Given the description of an element on the screen output the (x, y) to click on. 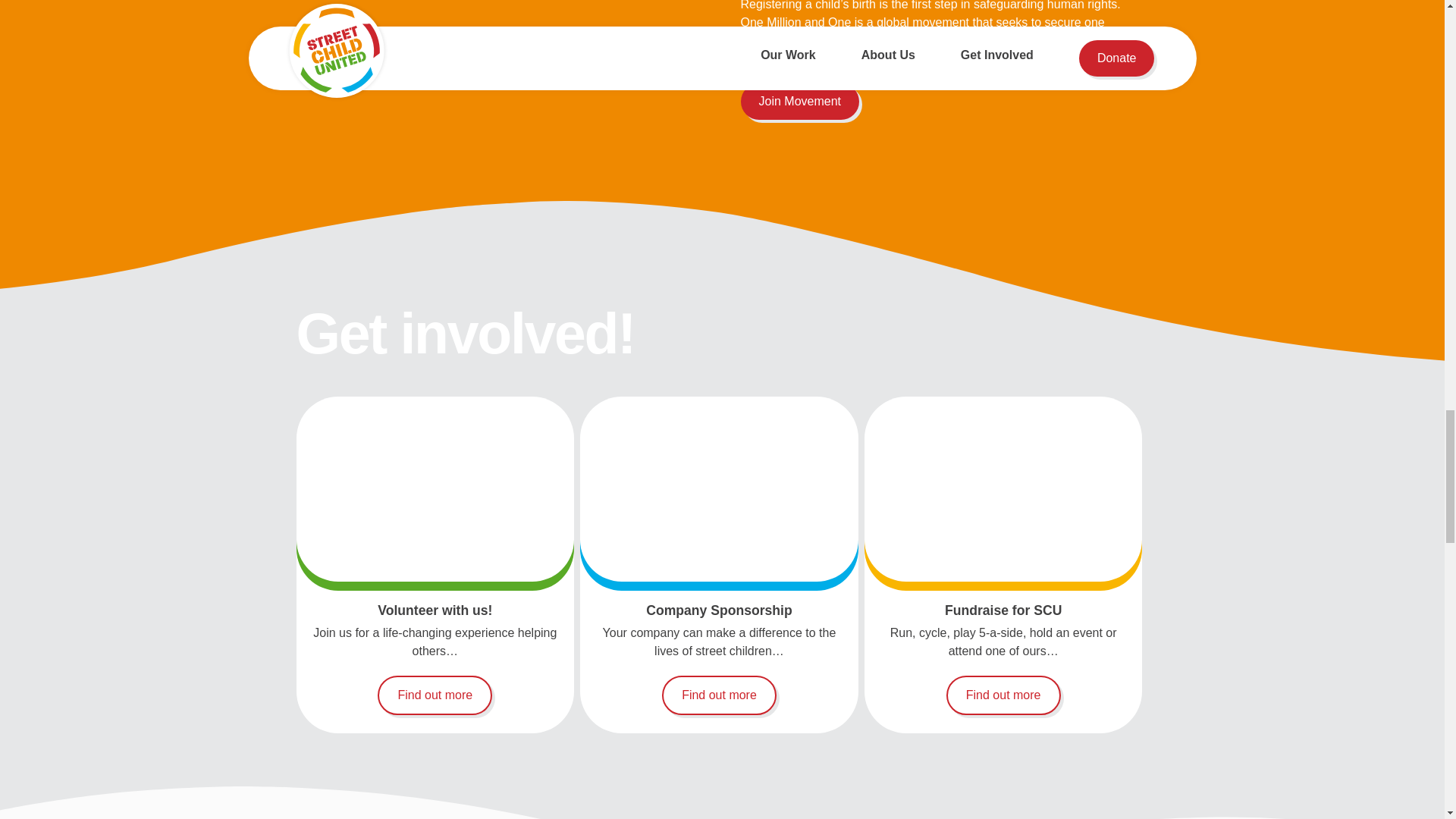
Join Movement (799, 101)
Find out more (434, 694)
Find out more (1003, 694)
Find out more (719, 694)
